Given the description of an element on the screen output the (x, y) to click on. 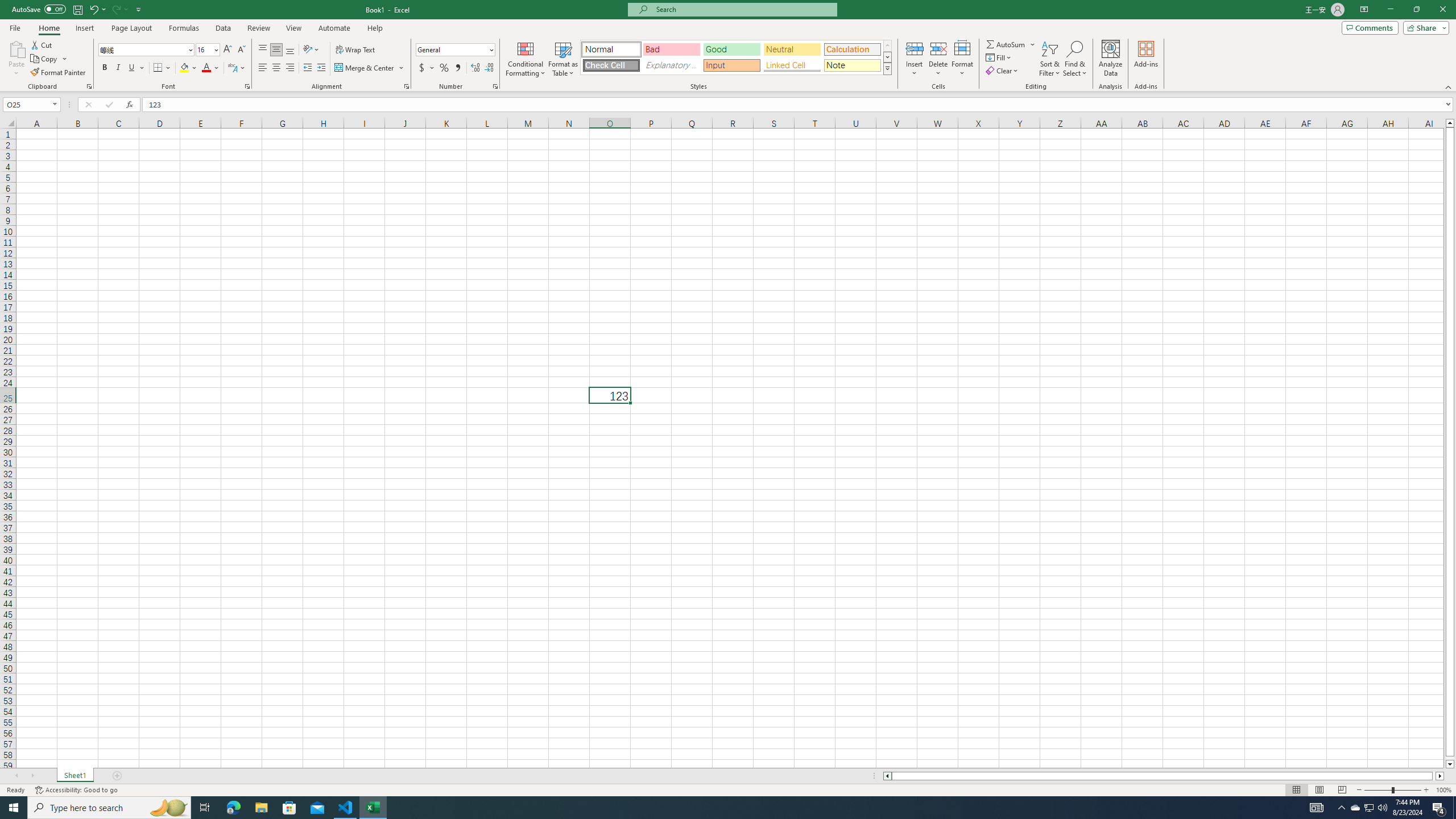
Page right (1433, 775)
Normal (611, 49)
Delete (938, 58)
Bad (671, 49)
Automate (334, 28)
Save (77, 9)
Increase Indent (320, 67)
Class: MsoCommandBar (728, 45)
Customize Quick Access Toolbar (139, 9)
Data (223, 28)
Merge & Center (369, 67)
Column left (886, 775)
